Given the description of an element on the screen output the (x, y) to click on. 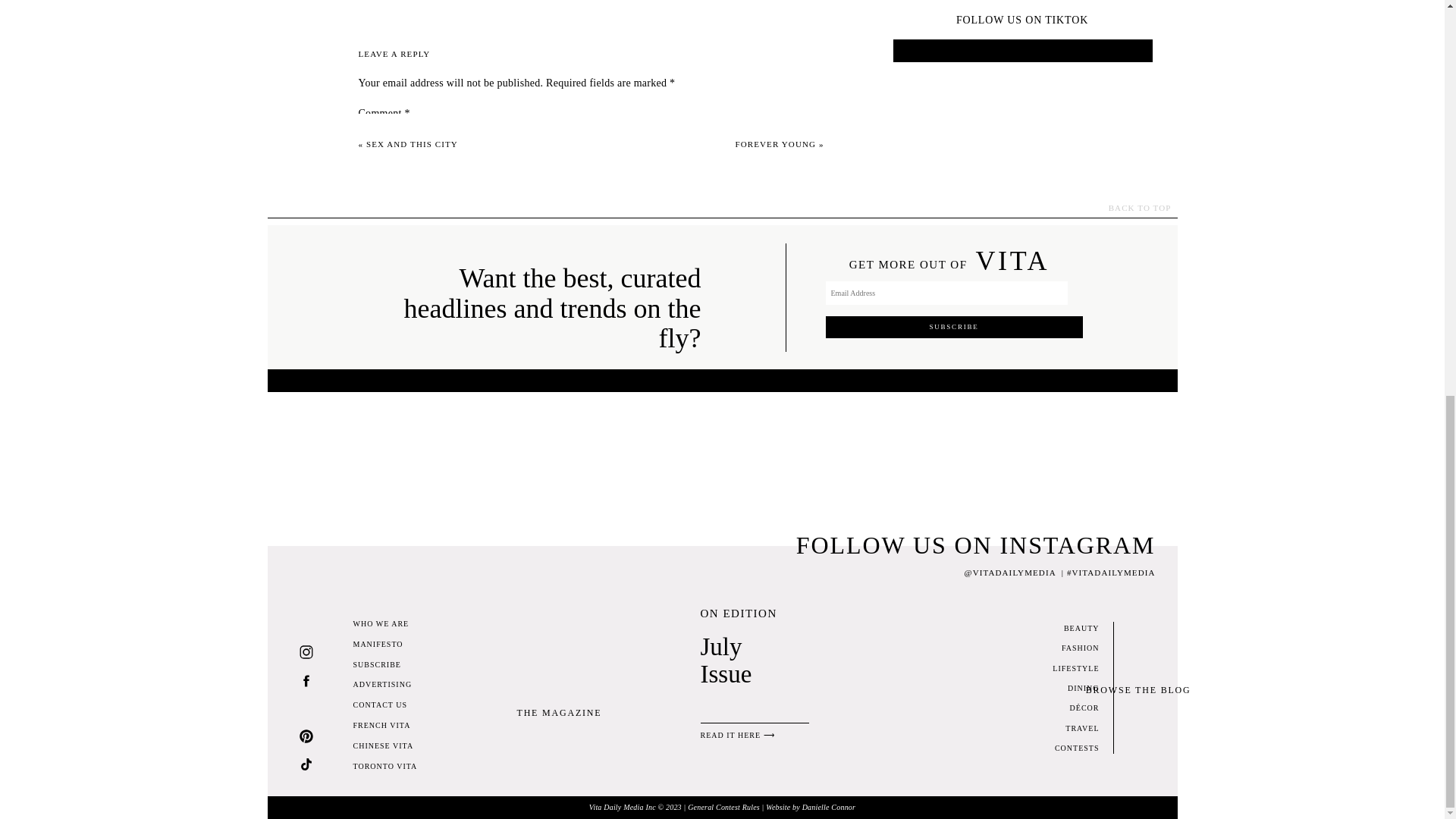
Subscribe (953, 327)
FOREVER YOUNG (775, 143)
BACK TO TOP (1111, 208)
SEX AND THIS CITY (412, 143)
Post Comment (398, 511)
Post Comment (398, 511)
yes (366, 447)
